Given the description of an element on the screen output the (x, y) to click on. 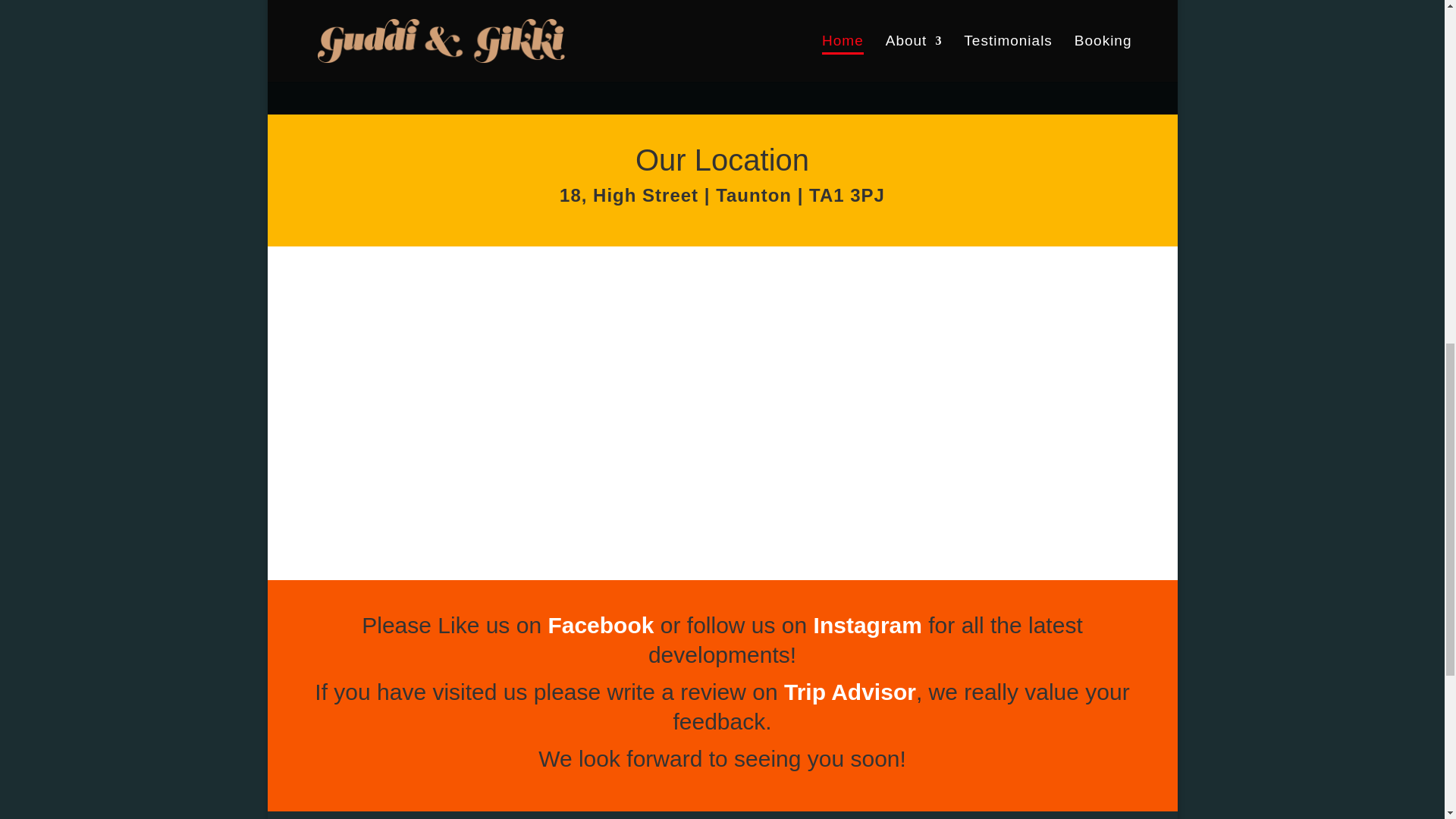
Facebook (600, 625)
Instagram (867, 625)
Trip Advisor (849, 691)
